Given the description of an element on the screen output the (x, y) to click on. 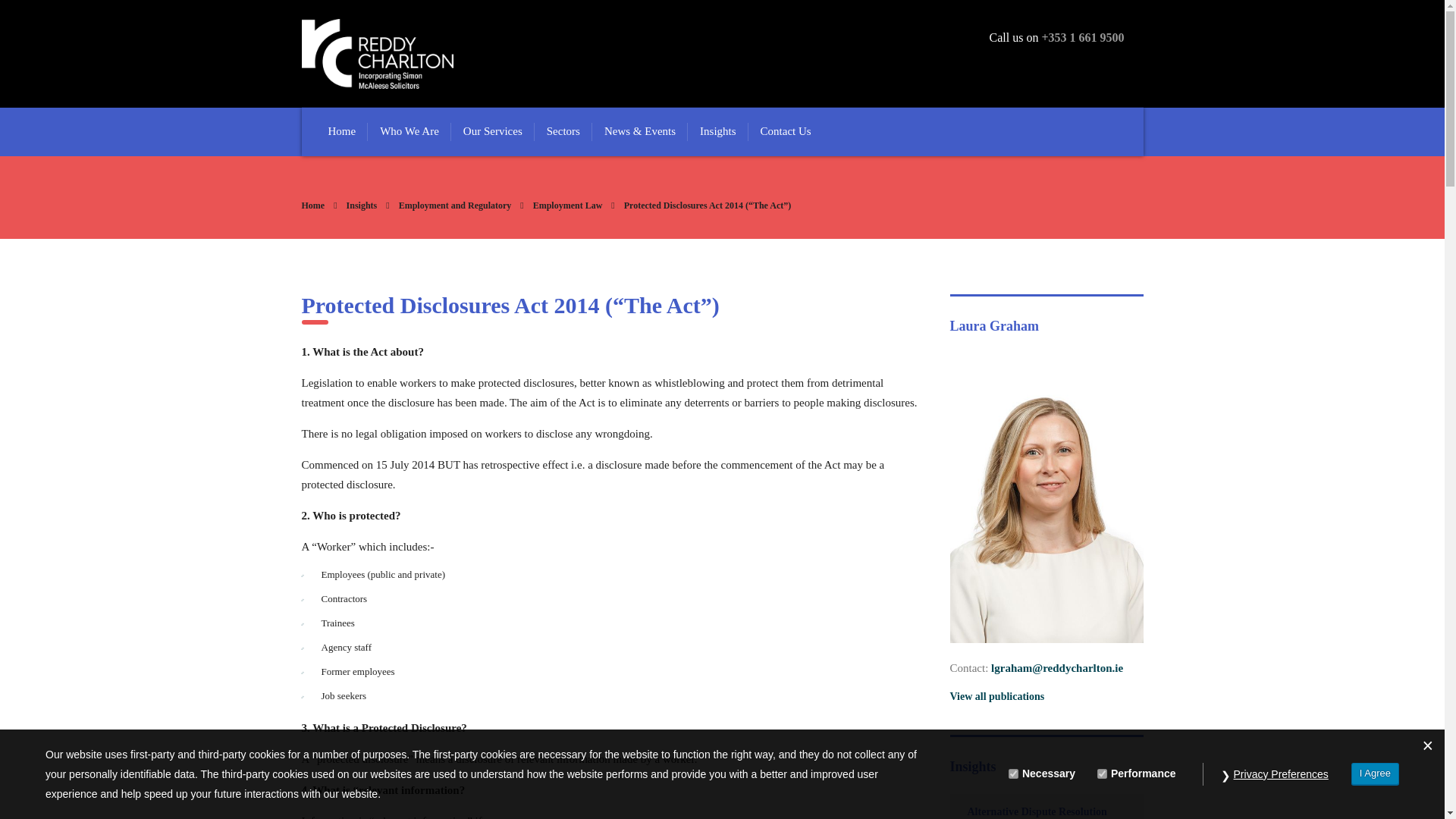
Necessary (1013, 773)
Go to the Employment and Regulatory category archives. (455, 204)
Go to Insights. (361, 204)
Performance (1101, 773)
Go to the Employment Law category archives. (567, 204)
Who We Are (409, 131)
Our Services (492, 131)
